Given the description of an element on the screen output the (x, y) to click on. 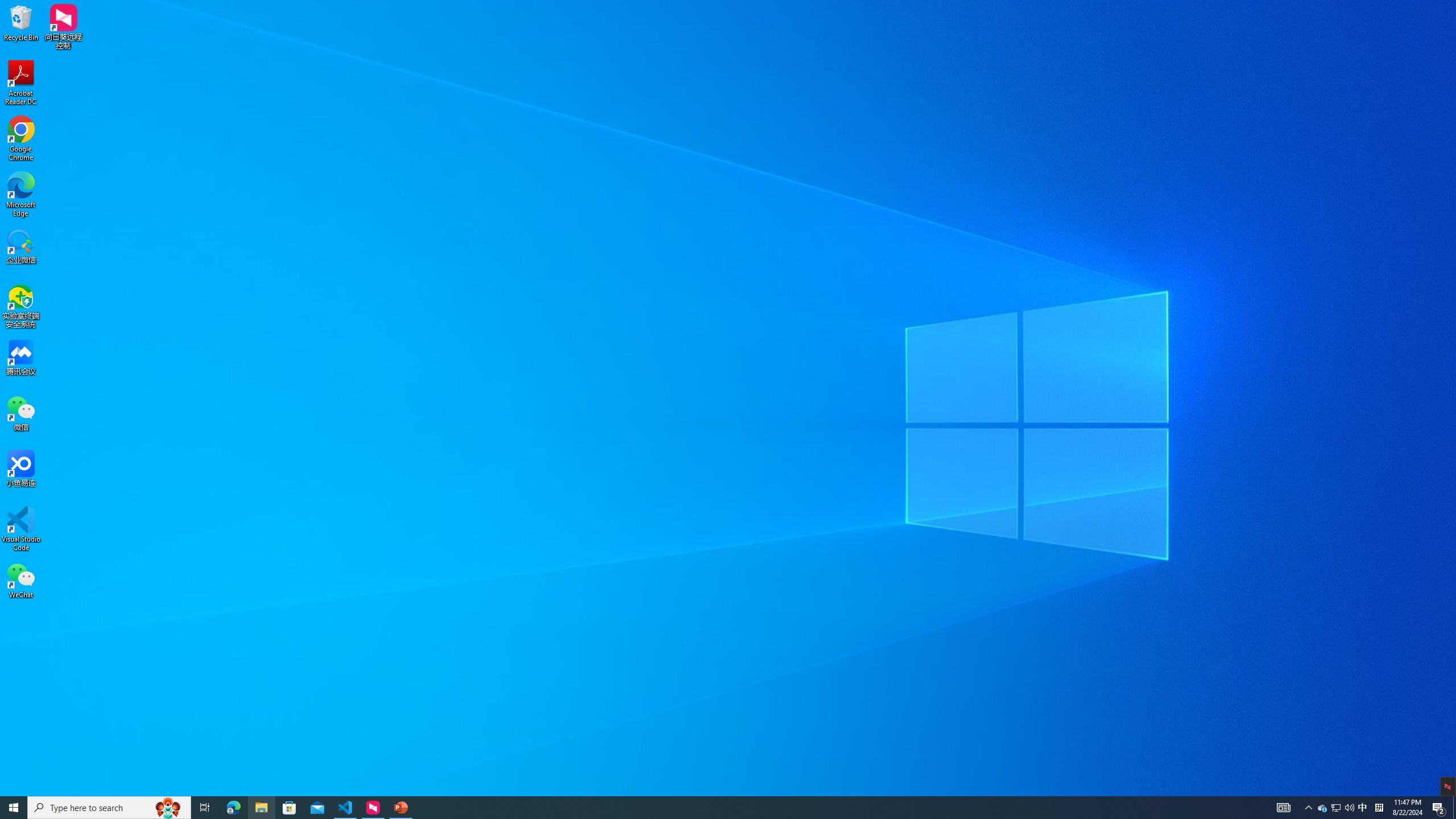
Action Center, 2 new notifications (1439, 807)
Design Idea with Animation (1366, 245)
